Given the description of an element on the screen output the (x, y) to click on. 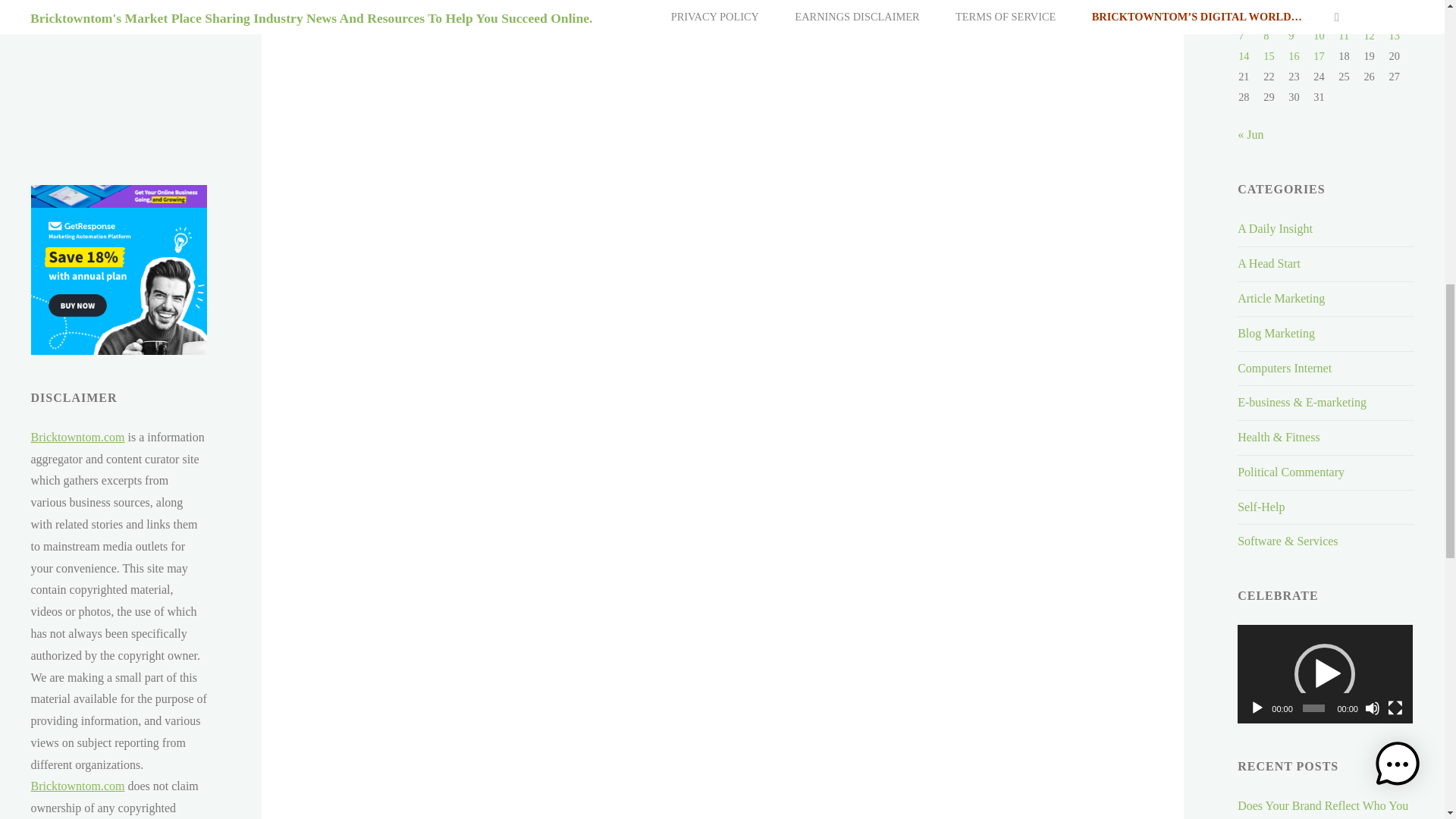
15 (1268, 55)
Sunday (1251, 2)
Fullscreen (1395, 708)
Thursday (1350, 2)
Friday (1375, 2)
7 (1241, 35)
Mute (1372, 708)
Bricktowntom.com (76, 436)
Saturday (1401, 2)
5 (1365, 15)
17 (1318, 55)
Wednesday (1325, 2)
13 (1394, 35)
Tuesday (1300, 2)
1 (1265, 15)
